Given the description of an element on the screen output the (x, y) to click on. 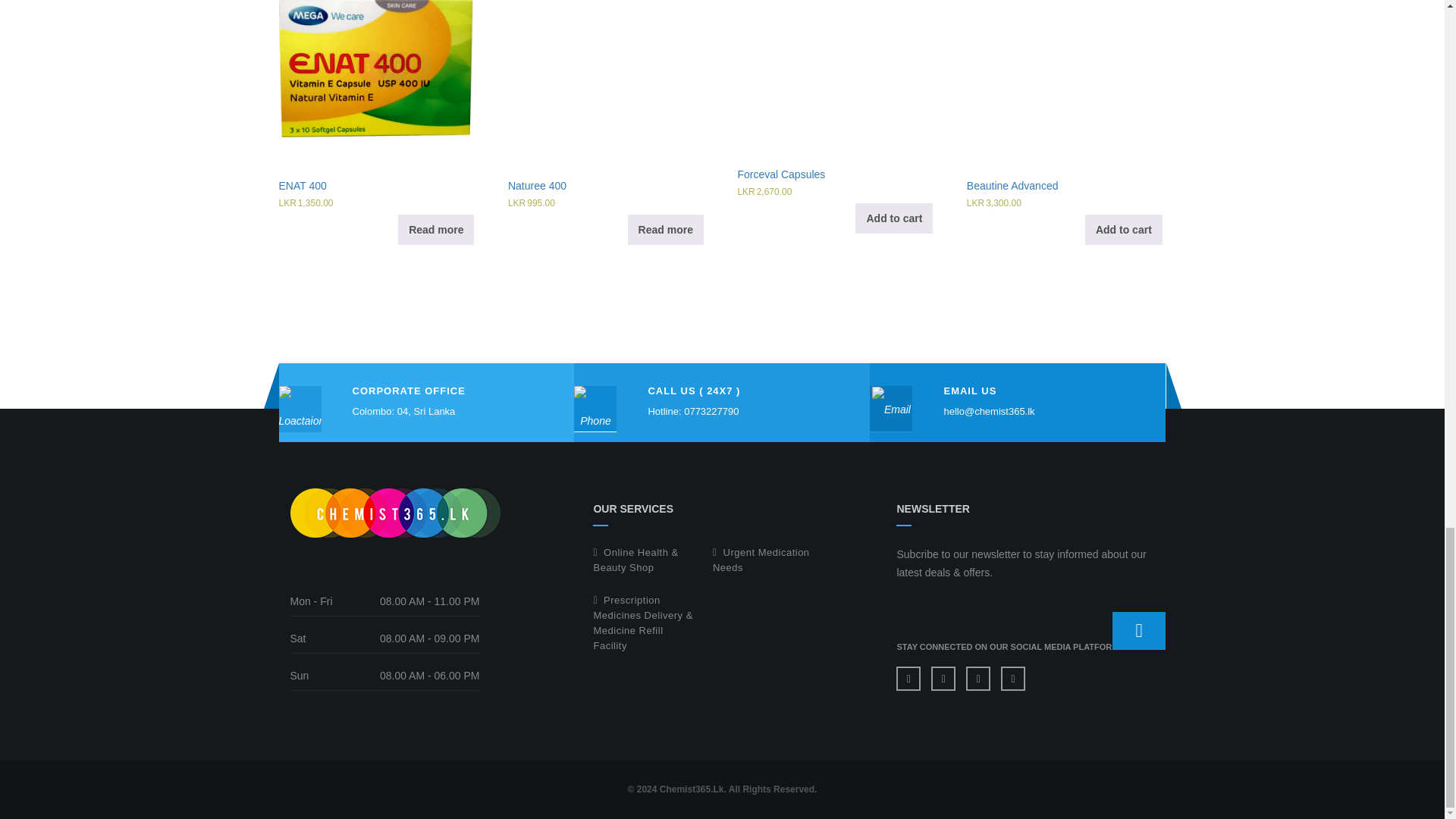
Twitter (943, 678)
Chemist365.lk (394, 512)
Urgent Medication Needs (761, 560)
Facebook (908, 678)
